Given the description of an element on the screen output the (x, y) to click on. 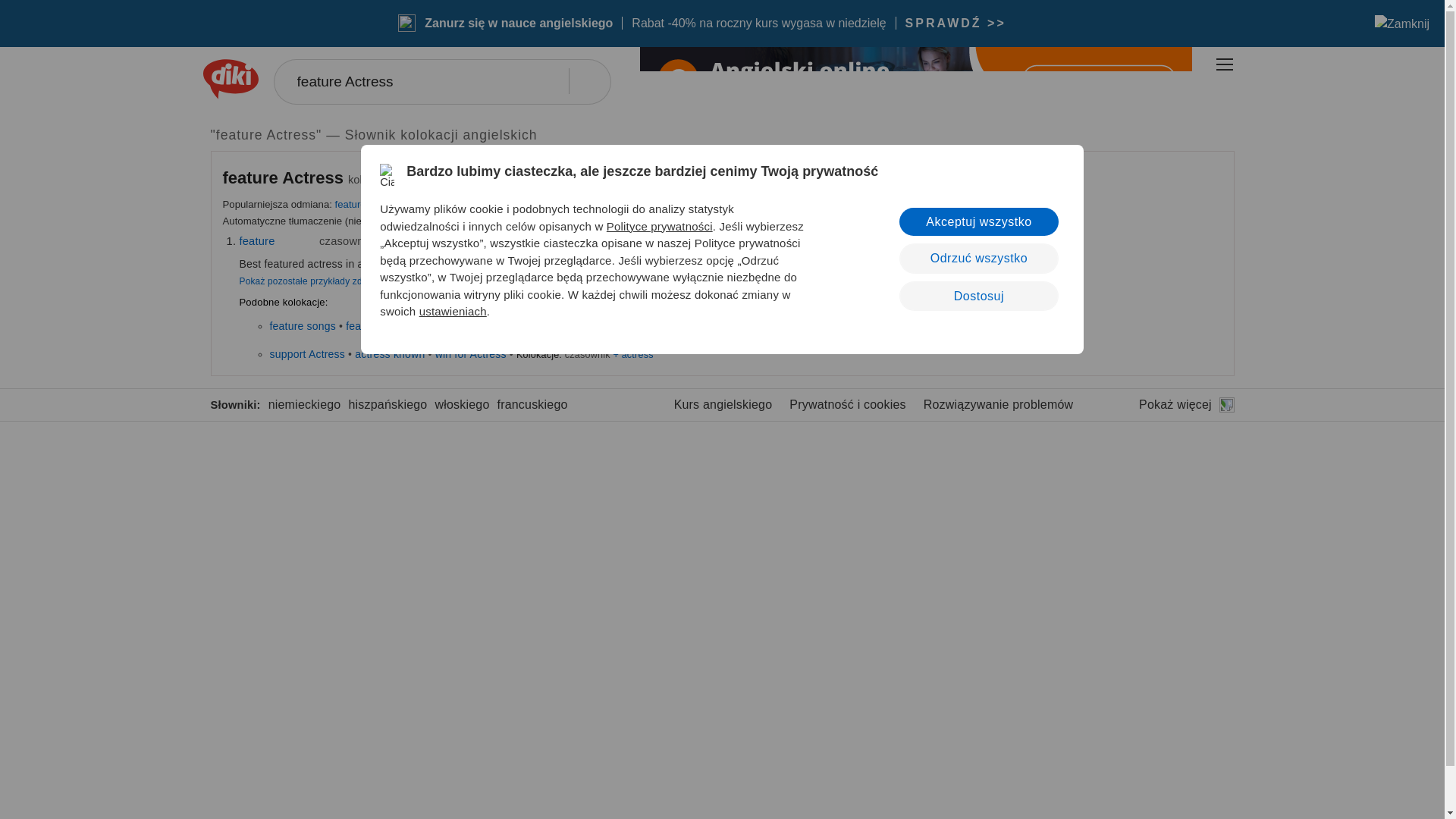
American English (453, 241)
Akceptuj wszystko (978, 221)
feature (257, 241)
feature Actress (441, 81)
Uwaga: kolokacja wygenerowana automatycznie. (285, 177)
Dostosuj (978, 296)
support Actress (307, 354)
British English (434, 241)
feature actress (367, 204)
American English (306, 241)
feature music (477, 326)
British English (287, 241)
feature Actress (282, 177)
feature songs (302, 326)
actress known (390, 354)
